Given the description of an element on the screen output the (x, y) to click on. 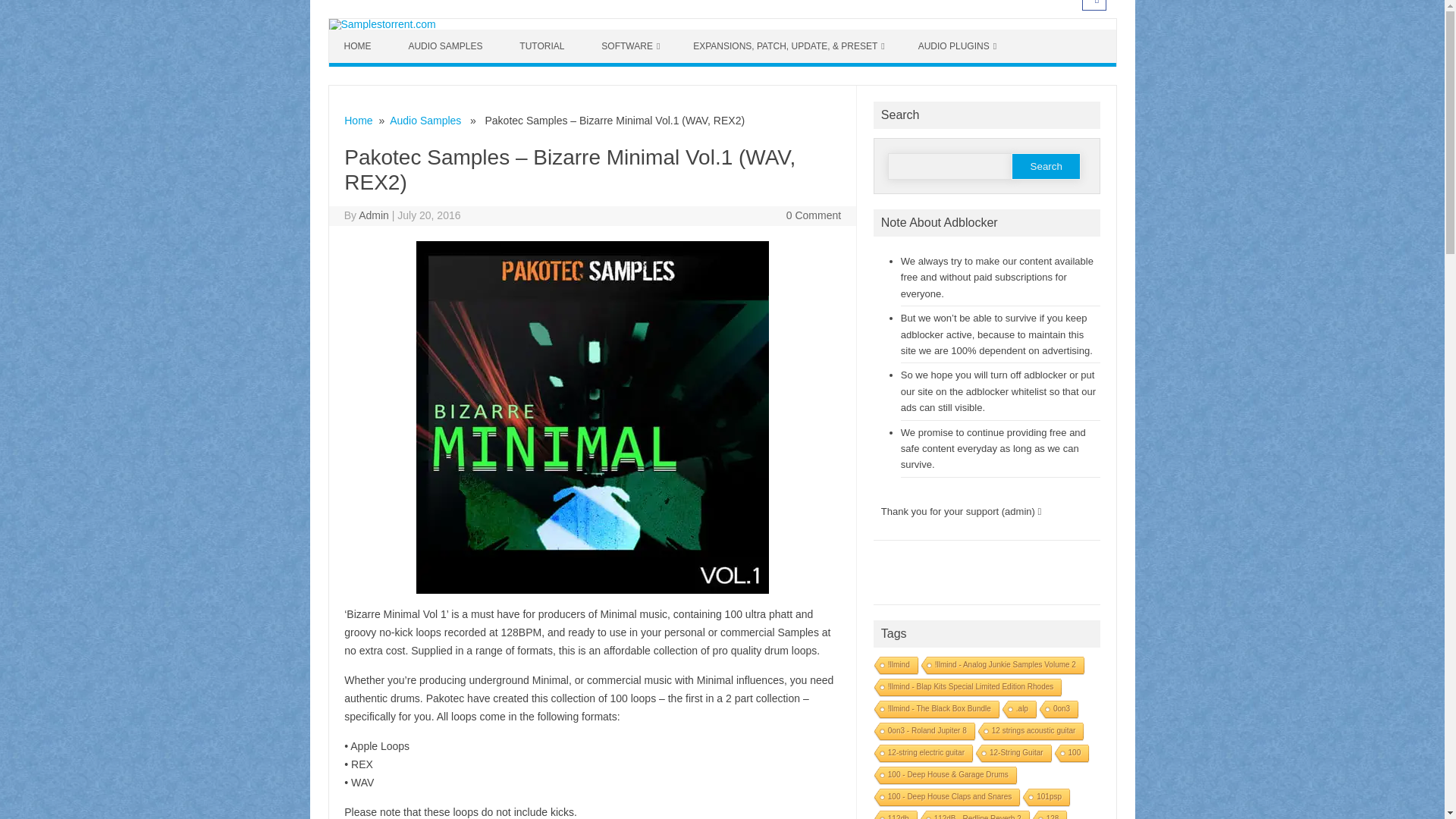
!llmind - Analog Junkie Samples Volume 2 (1000, 665)
SOFTWARE (630, 46)
TUTORIAL (543, 46)
Audio Samples (425, 120)
AUDIO SAMPLES (446, 46)
Admin (373, 215)
HOME (359, 46)
0 Comment (813, 215)
Search (1045, 166)
!llmind - Blap Kits Special Limited Edition Rhodes (966, 687)
!llmind - The Black Box Bundle (935, 710)
Skip to content (363, 34)
AUDIO PLUGINS (956, 46)
Search (1045, 166)
Home (357, 120)
